Given the description of an element on the screen output the (x, y) to click on. 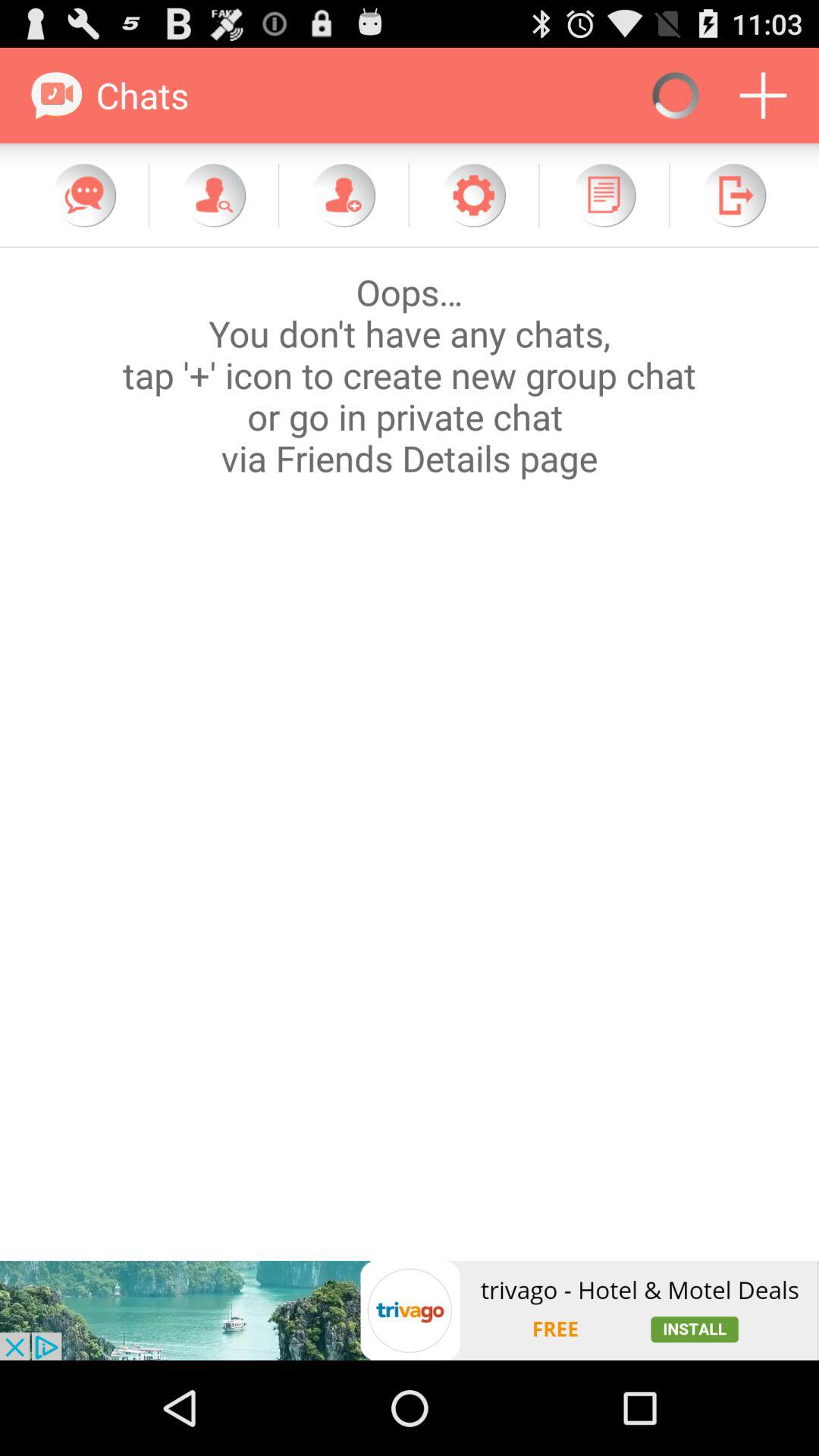
tap the app below chats icon (213, 194)
